Given the description of an element on the screen output the (x, y) to click on. 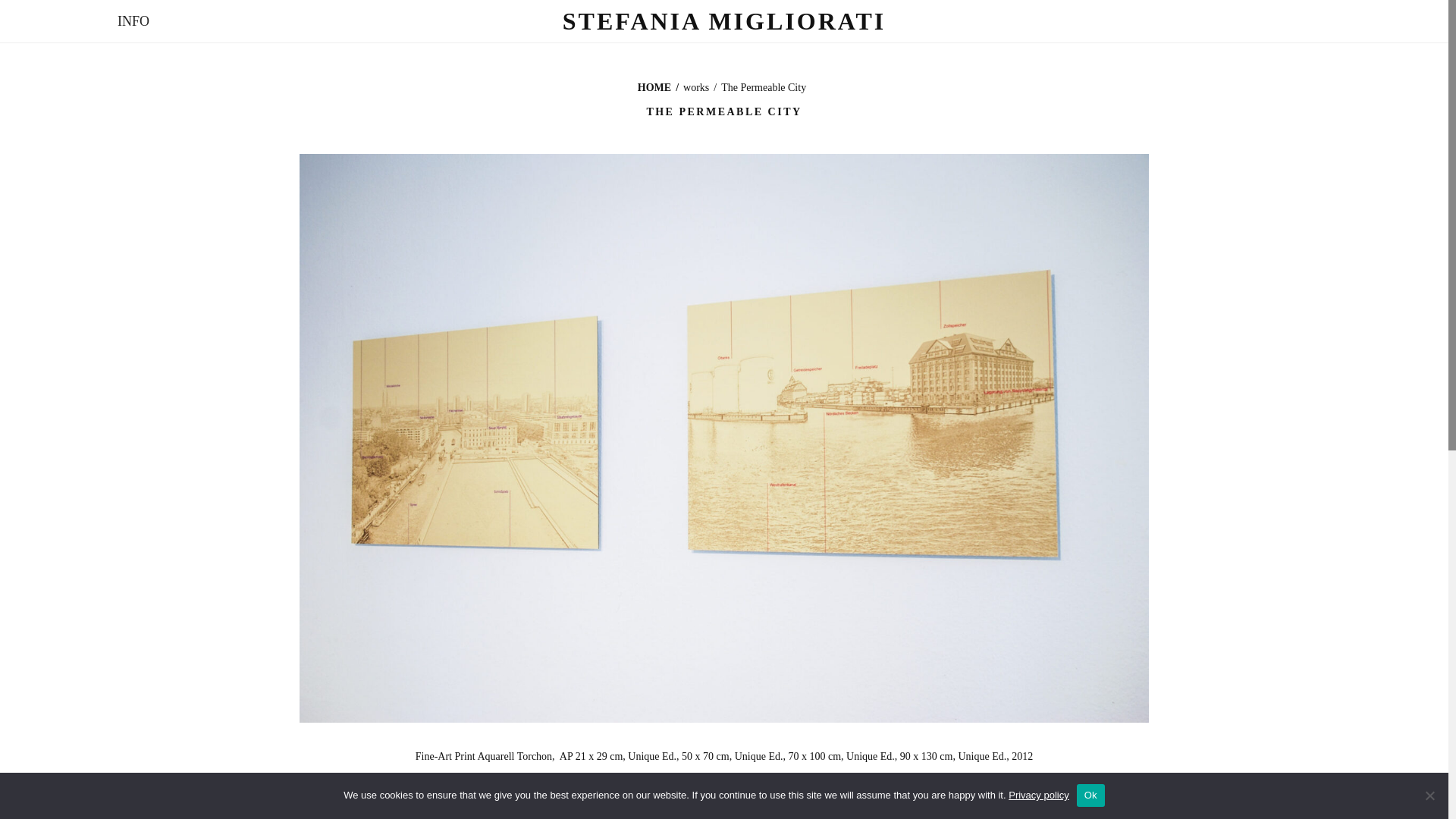
Privacy policy (1038, 794)
Ok (1091, 794)
STEFANIA MIGLIORATI (724, 21)
HOME (654, 87)
INFO (133, 20)
works (695, 87)
